Given the description of an element on the screen output the (x, y) to click on. 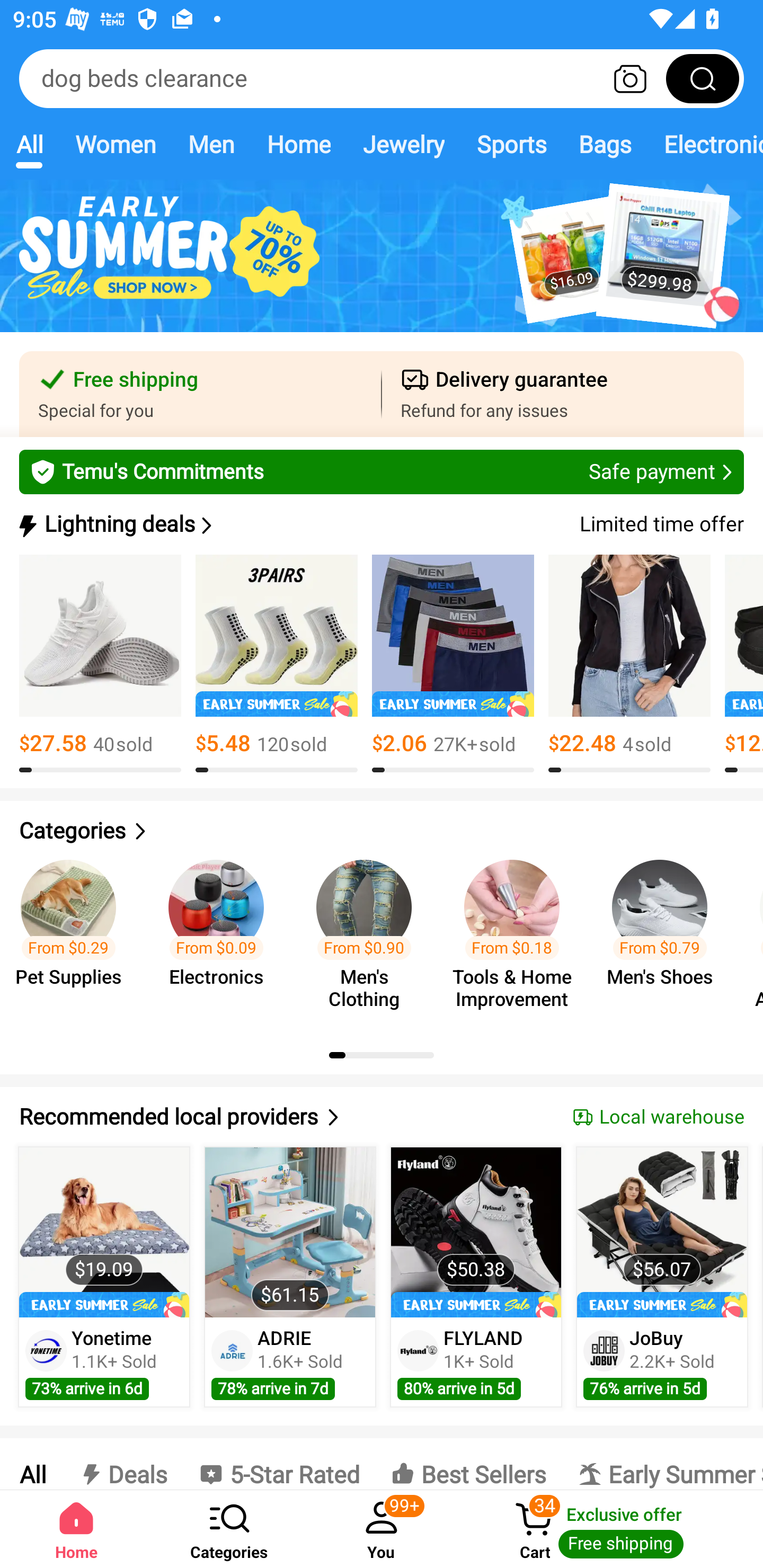
dog beds clearance (381, 78)
All (29, 144)
Women (115, 144)
Men (211, 144)
Home (298, 144)
Jewelry (403, 144)
Sports (511, 144)
Bags (605, 144)
Electronics (705, 144)
$16.09 $299.98 (381, 265)
Free shipping Special for you (200, 394)
Delivery guarantee Refund for any issues (562, 394)
Temu's Commitments (381, 471)
Lightning deals Lightning deals Limited time offer (379, 524)
$27.58 40￼sold 8.0 (100, 664)
$5.48 120￼sold 8.0 (276, 664)
$2.06 27K+￼sold 8.0 (453, 664)
$22.48 4￼sold 8.0 (629, 664)
Categories (381, 830)
From $0.29 Pet Supplies (74, 936)
From $0.09 Electronics (222, 936)
From $0.90 Men's Clothing (369, 936)
From $0.18 Tools & Home Improvement (517, 936)
From $0.79 Men's Shoes (665, 936)
$19.09 Yonetime 1.1K+ Sold 73% arrive in 6d (103, 1276)
$61.15 ADRIE 1.6K+ Sold 78% arrive in 7d (289, 1276)
$50.38 FLYLAND 1K+ Sold 80% arrive in 5d (475, 1276)
$56.07 JoBuy 2.2K+ Sold 76% arrive in 5d (661, 1276)
$19.09 (104, 1232)
$61.15 (290, 1232)
$50.38 (475, 1232)
$56.07 (661, 1232)
All (32, 1463)
Deals Deals Deals (122, 1463)
5-Star Rated 5-Star Rated 5-Star Rated (279, 1463)
Best Sellers Best Sellers Best Sellers (468, 1463)
Home (76, 1528)
Categories (228, 1528)
You ‎99+‎ You (381, 1528)
Cart 34 Cart Exclusive offer (610, 1528)
